Given the description of an element on the screen output the (x, y) to click on. 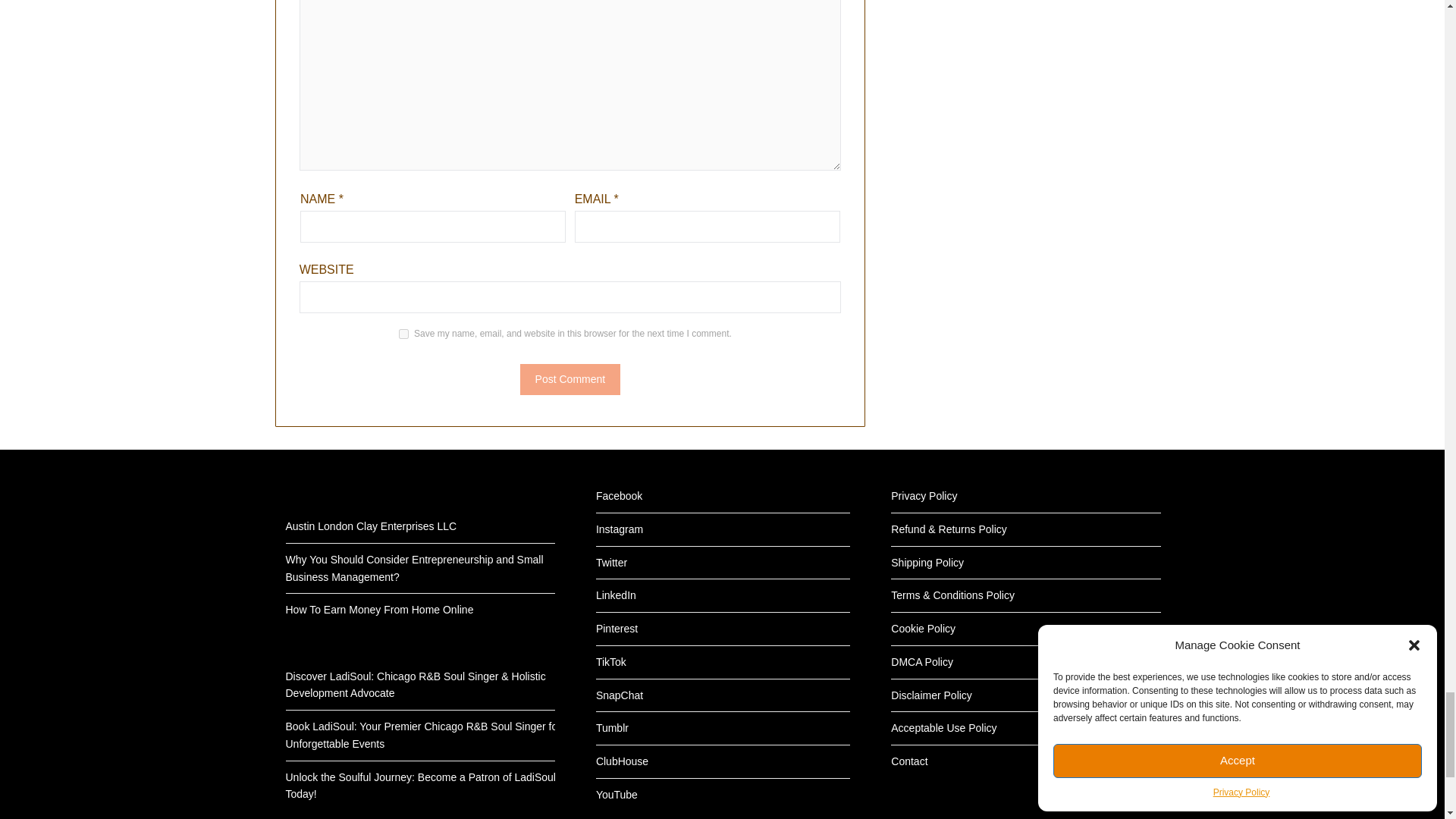
Post Comment (570, 378)
yes (403, 334)
